Given the description of an element on the screen output the (x, y) to click on. 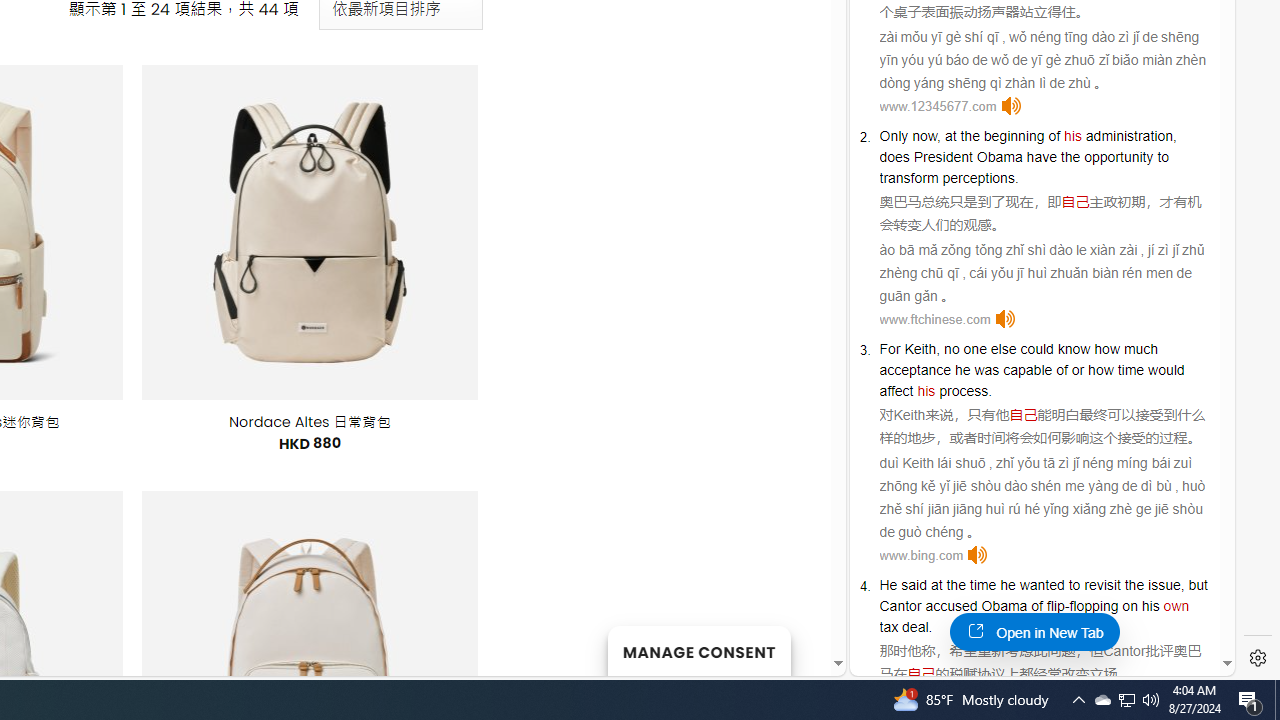
issue (1164, 584)
accused (951, 606)
He (888, 584)
Keith (909, 414)
, (1182, 584)
